Given the description of an element on the screen output the (x, y) to click on. 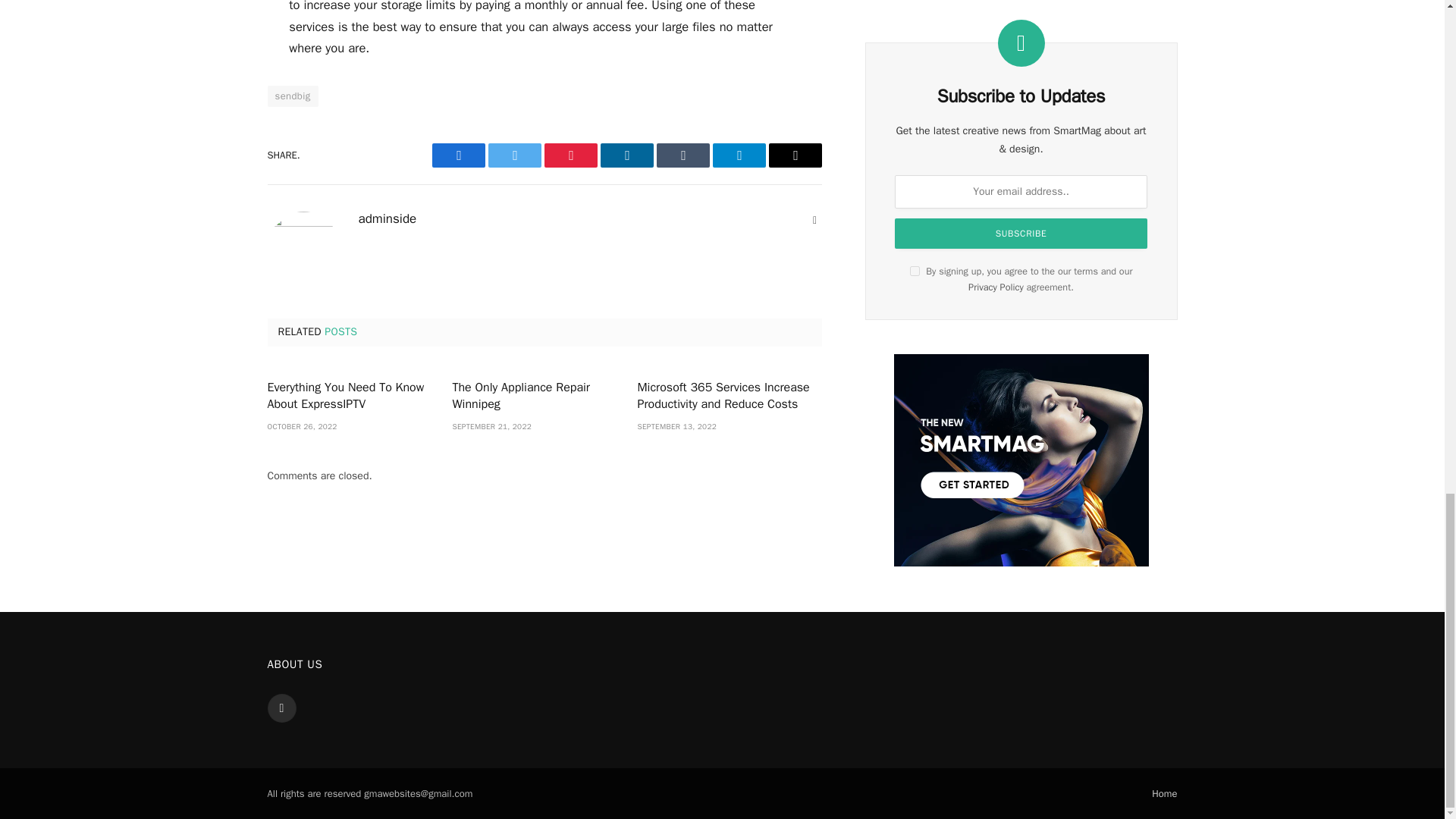
Subscribe (1021, 233)
on (915, 271)
